Given the description of an element on the screen output the (x, y) to click on. 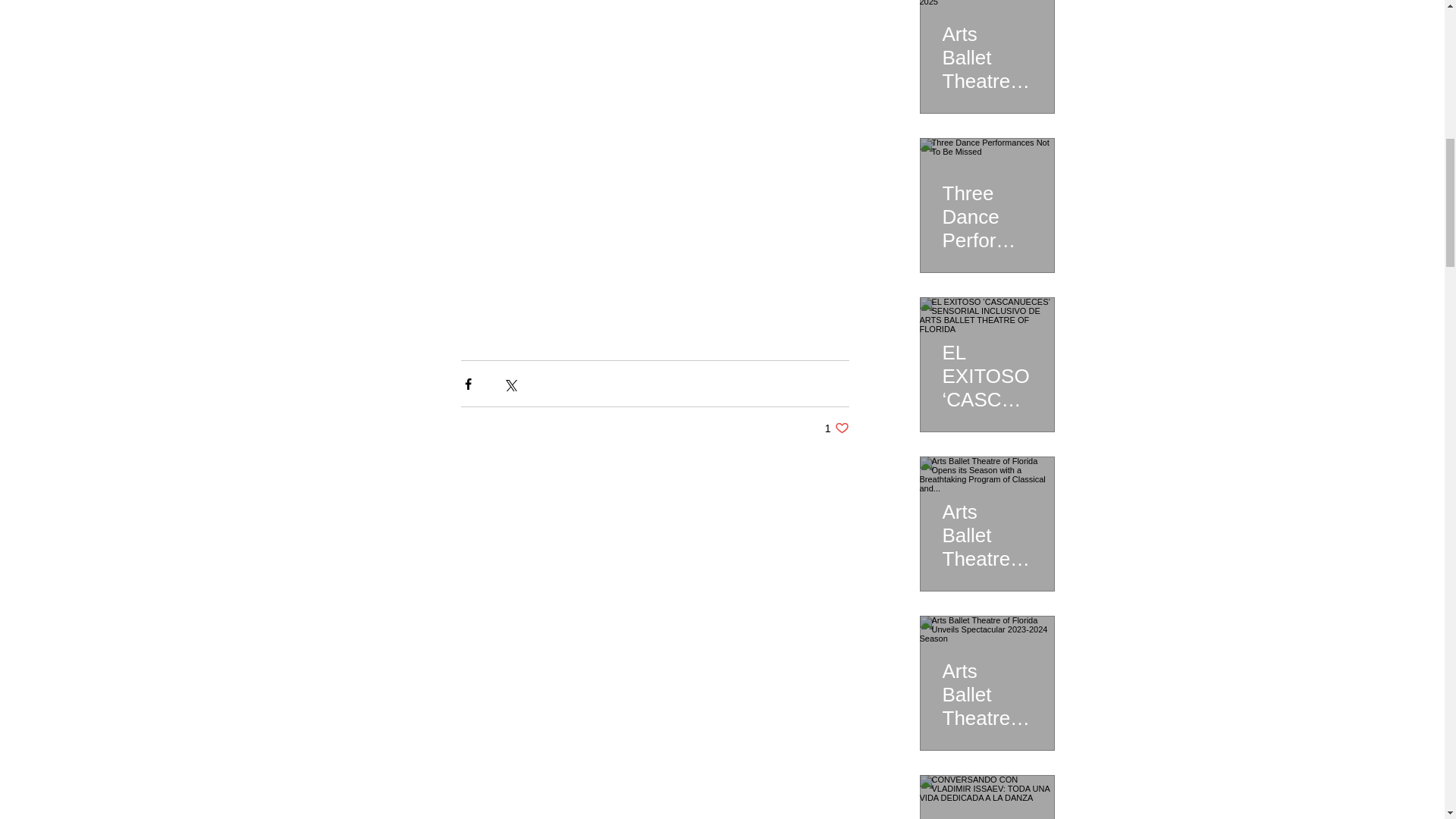
Three Dance Performances Not To Be Missed (986, 210)
